Given the description of an element on the screen output the (x, y) to click on. 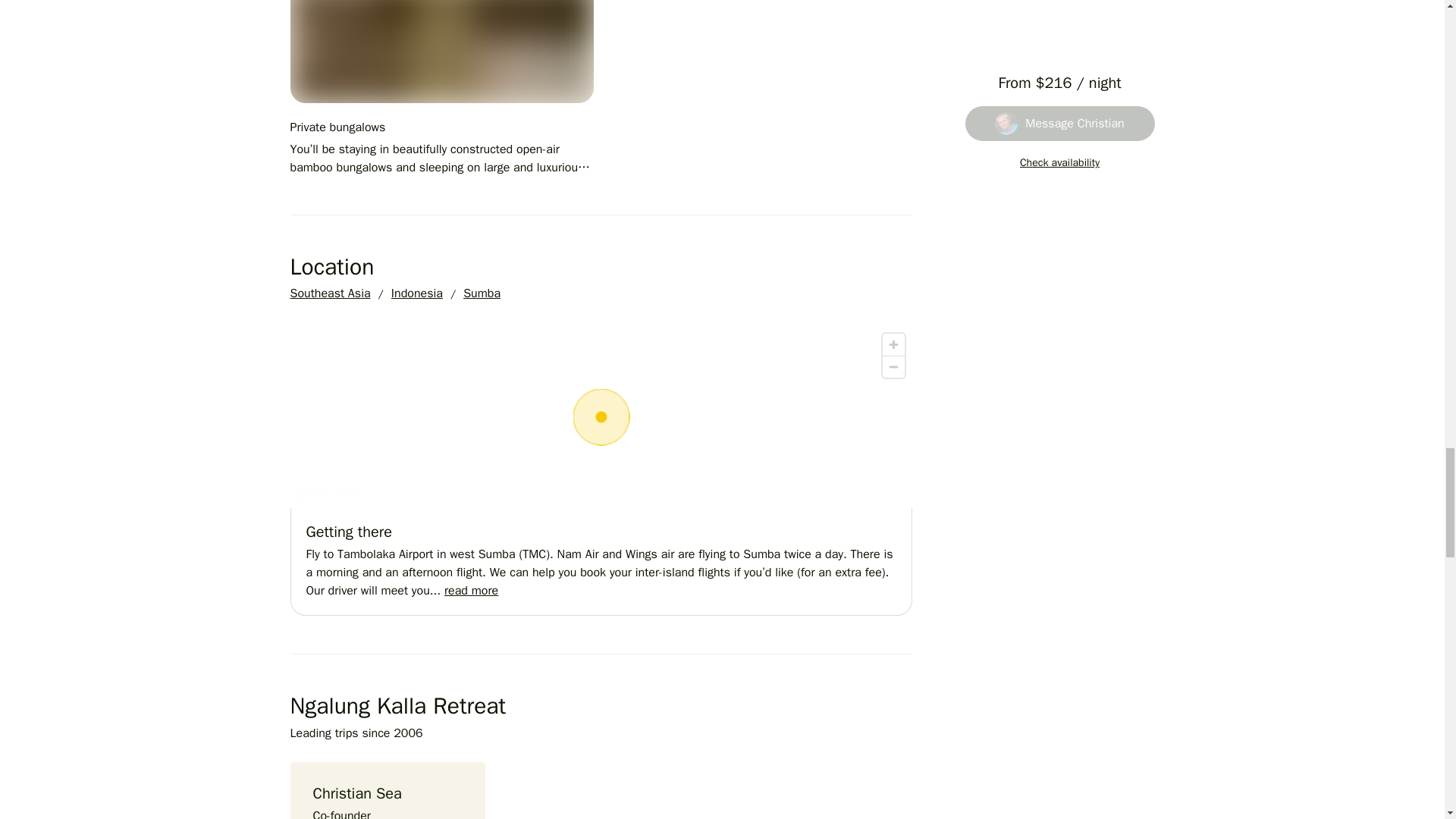
Zoom in (893, 344)
Indonesia (416, 293)
Zoom out (893, 366)
Southeast Asia (329, 293)
